Given the description of an element on the screen output the (x, y) to click on. 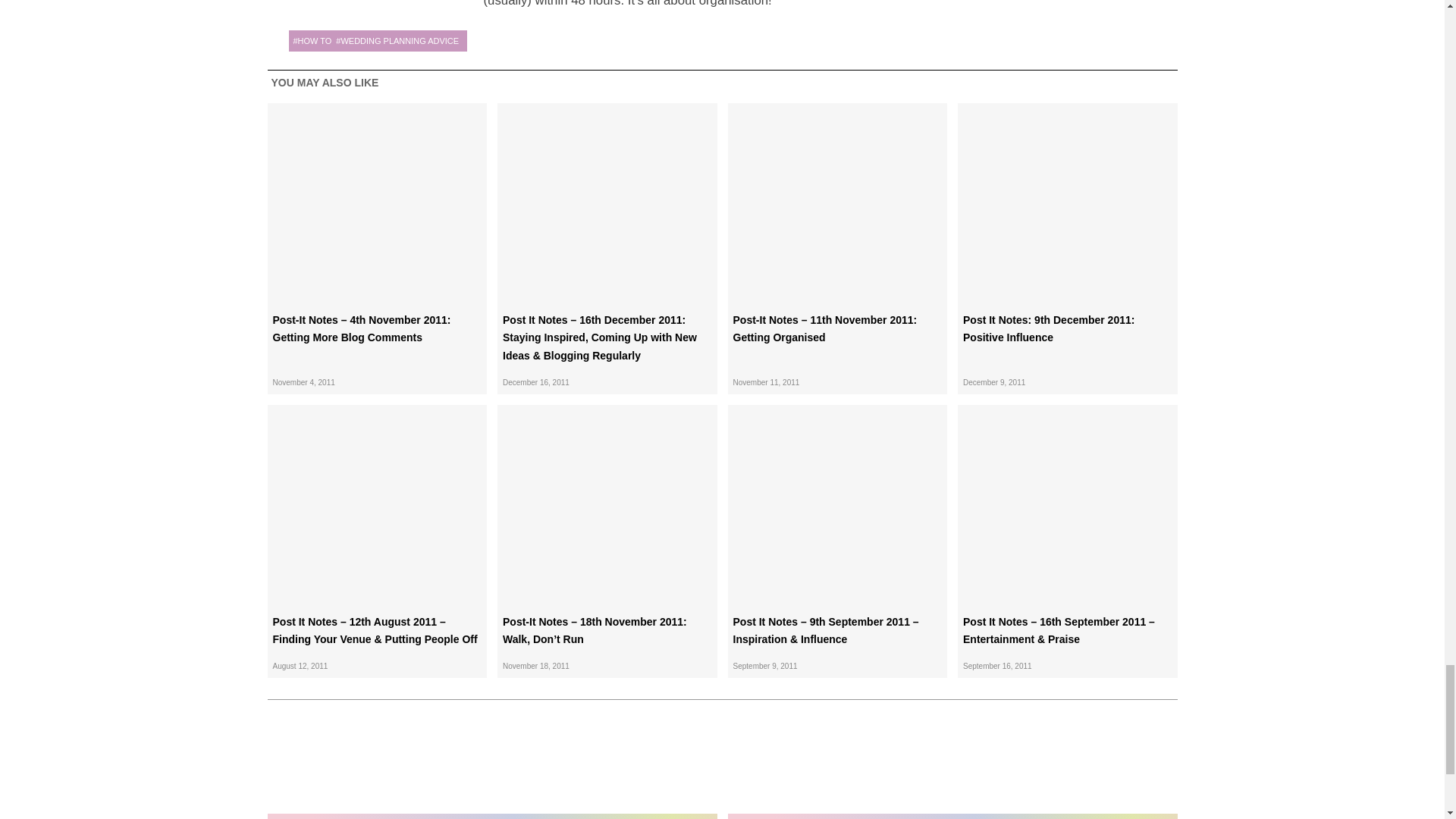
Buy the latest magazine (491, 771)
Buy the signed book (952, 771)
